Given the description of an element on the screen output the (x, y) to click on. 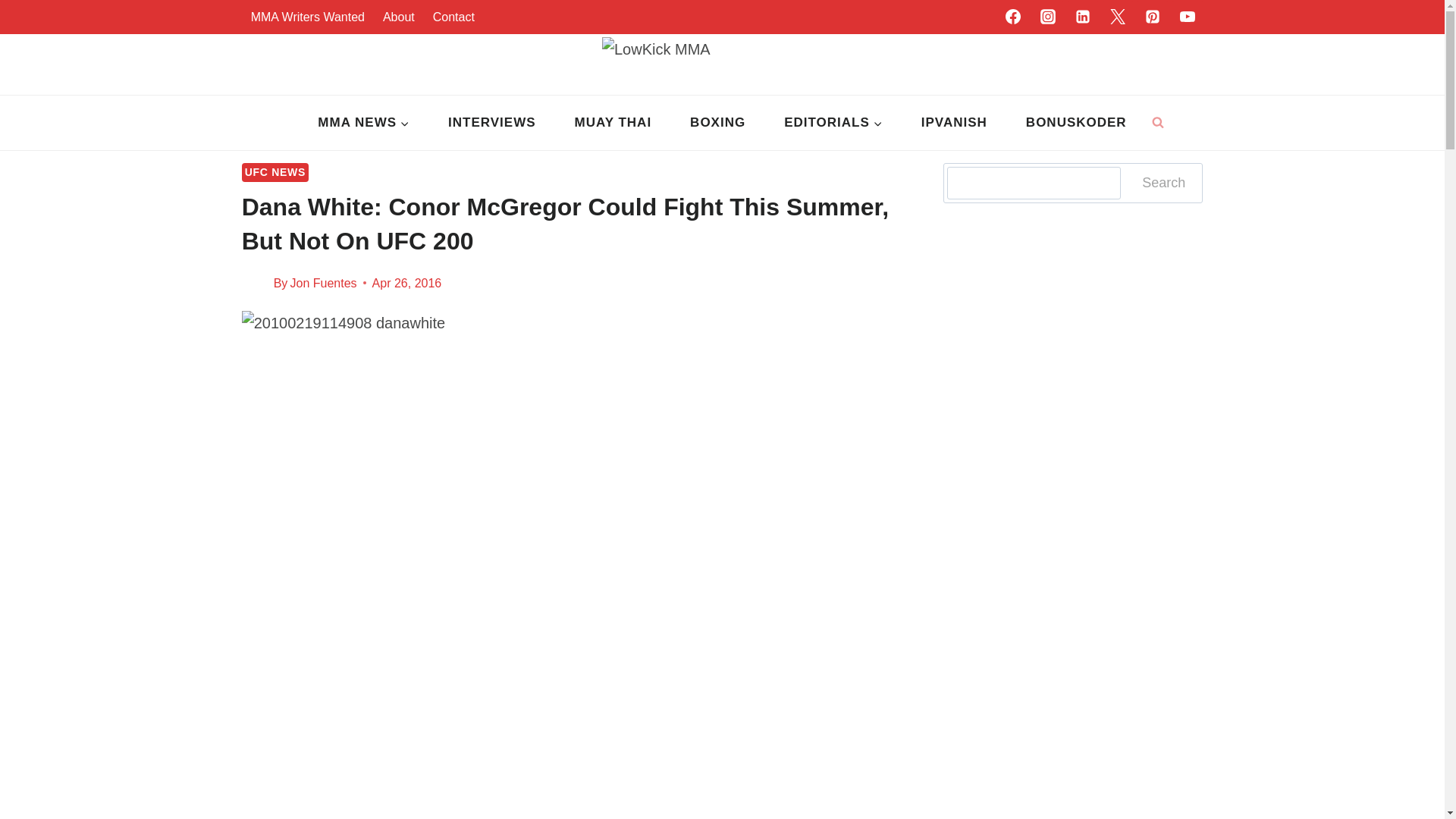
BOXING (718, 122)
Contact (453, 17)
About (398, 17)
IPVANISH (953, 122)
MMA NEWS (363, 122)
BONUSKODER (1075, 122)
MMA Writers Wanted (307, 17)
INTERVIEWS (491, 122)
MUAY THAI (612, 122)
